Given the description of an element on the screen output the (x, y) to click on. 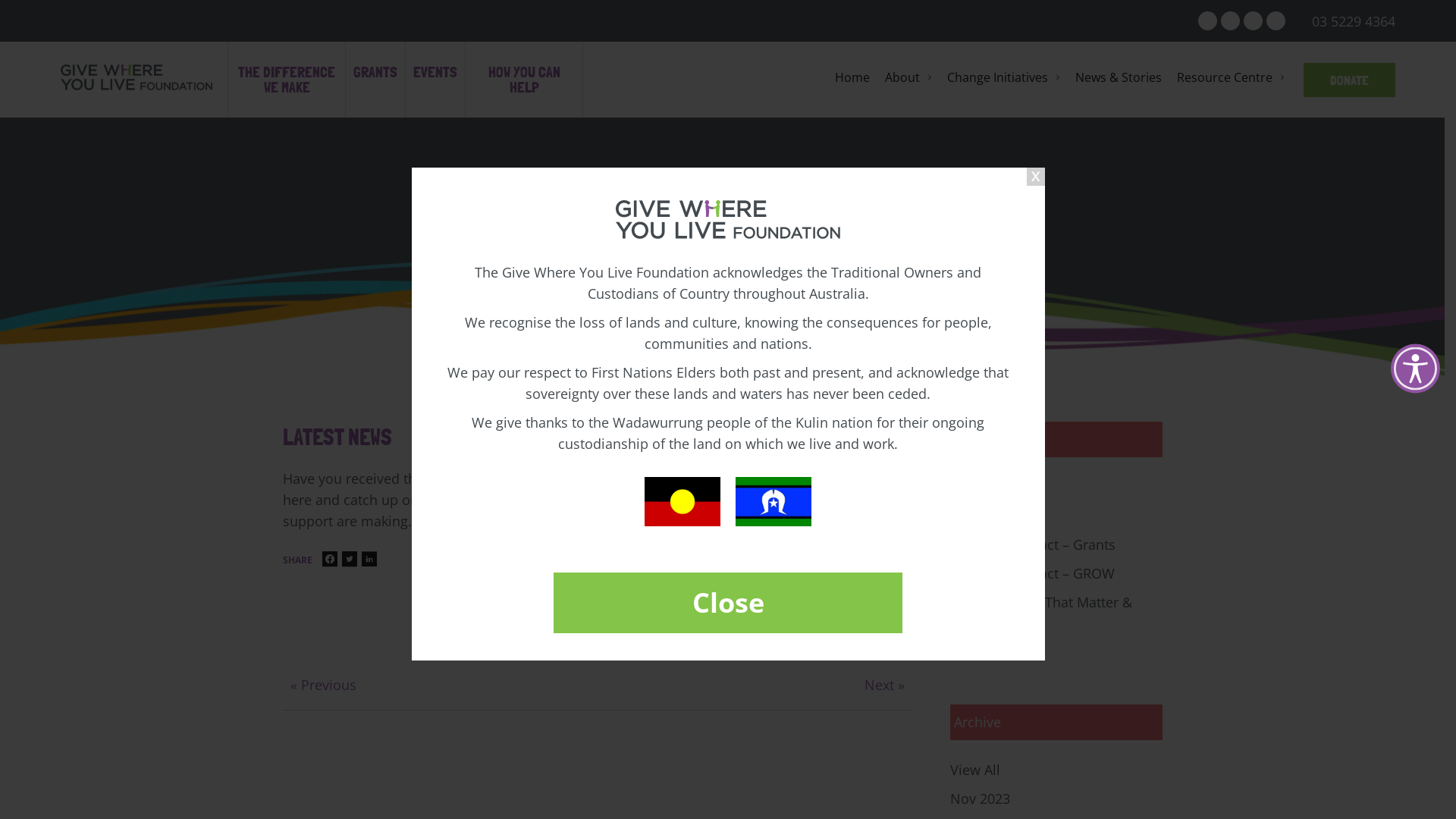
GRANTS Element type: text (374, 56)
THE DIFFERENCE WE MAKE Element type: text (286, 56)
View All Element type: text (1055, 769)
DONATE Element type: text (1349, 79)
News & Stories Element type: text (1118, 79)
Nov 2023 Element type: text (1055, 798)
Conversations That Matter & Advocacy Element type: text (1055, 612)
EVENTS Element type: text (434, 56)
Event News Element type: text (1055, 651)
HOW YOU CAN HELP Element type: text (523, 56)
Resource Centre Element type: text (1230, 79)
General News Element type: text (1055, 515)
About Element type: text (907, 79)
 03 5229 4364 Element type: text (1351, 21)
Home Element type: text (851, 79)
View All Element type: text (1055, 486)
Change Initiatives Element type: text (1003, 79)
